Given the description of an element on the screen output the (x, y) to click on. 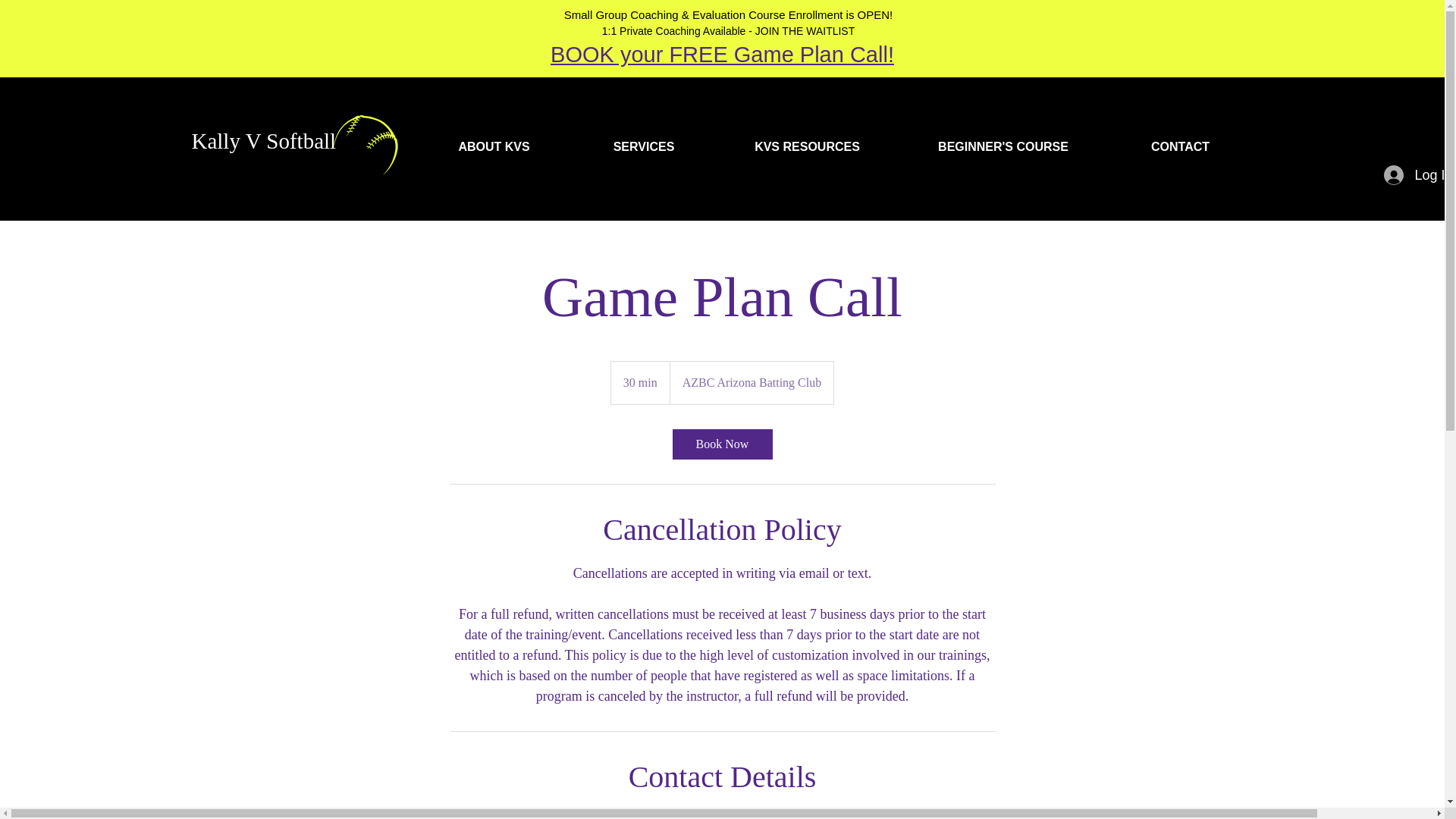
Kally V Softball (263, 140)
Log In (1414, 174)
Book Now (721, 444)
1:1 Private Coaching Available - JOIN THE WAITLIST (729, 30)
CONTACT (1179, 147)
BOOK your FREE Game Plan Call! (721, 54)
